Given the description of an element on the screen output the (x, y) to click on. 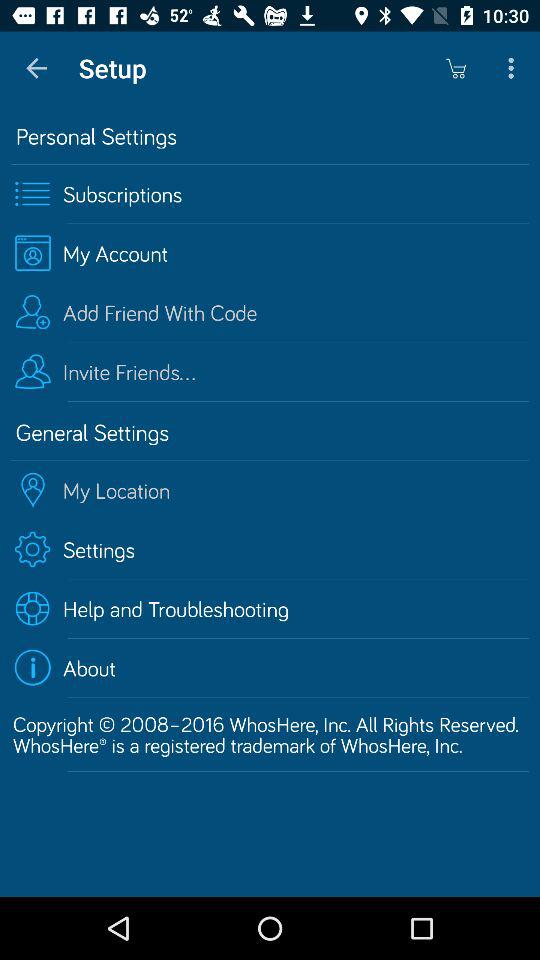
press the icon above personal settings (36, 68)
